Given the description of an element on the screen output the (x, y) to click on. 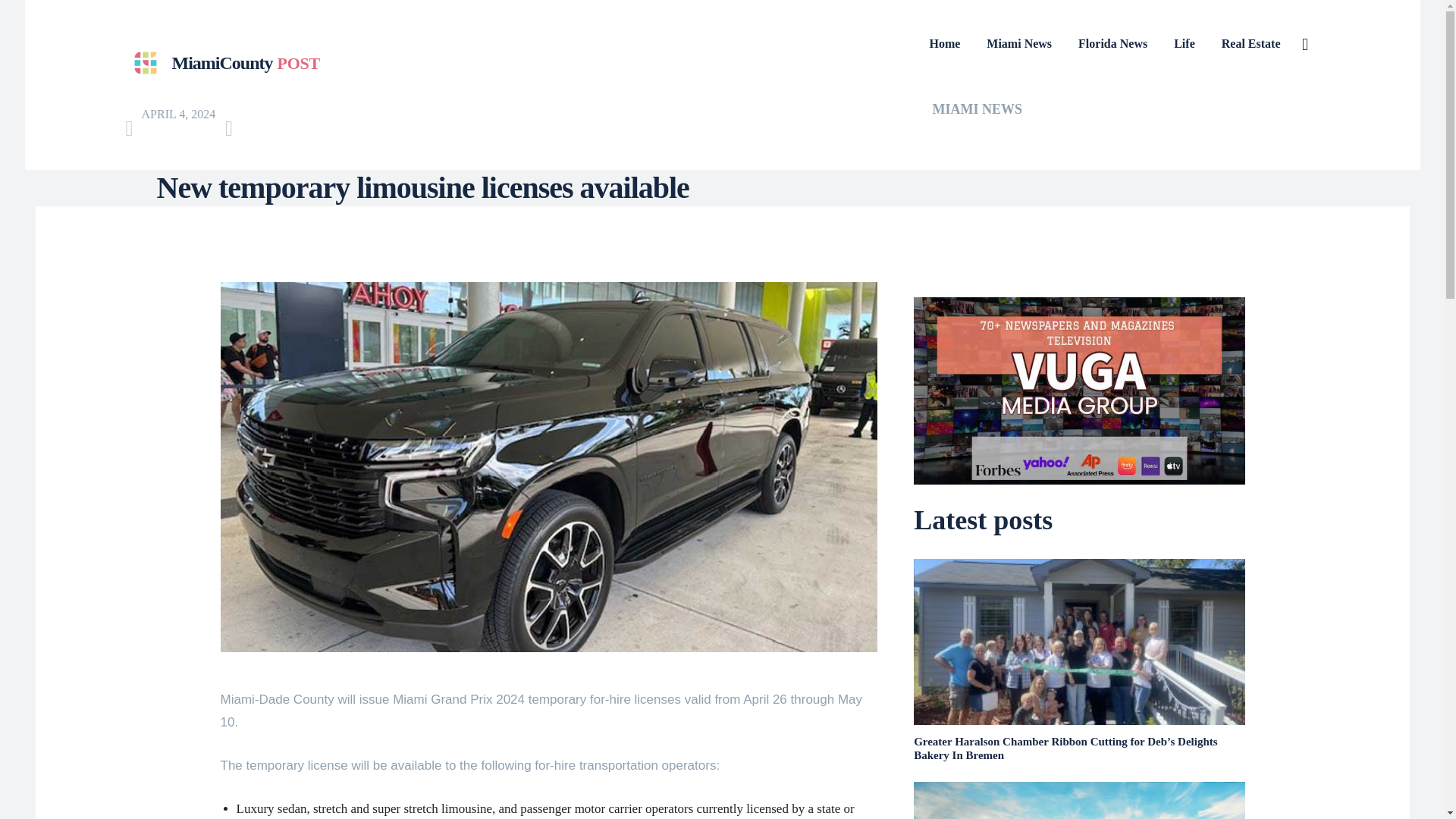
Miami County Post (221, 63)
Real Estate (221, 63)
Learn to safeguard your tenancy rights (1250, 43)
New temporary limousine licenses available (1079, 800)
Florida News (1018, 43)
MIAMI NEWS (1112, 43)
Home (978, 109)
